Given the description of an element on the screen output the (x, y) to click on. 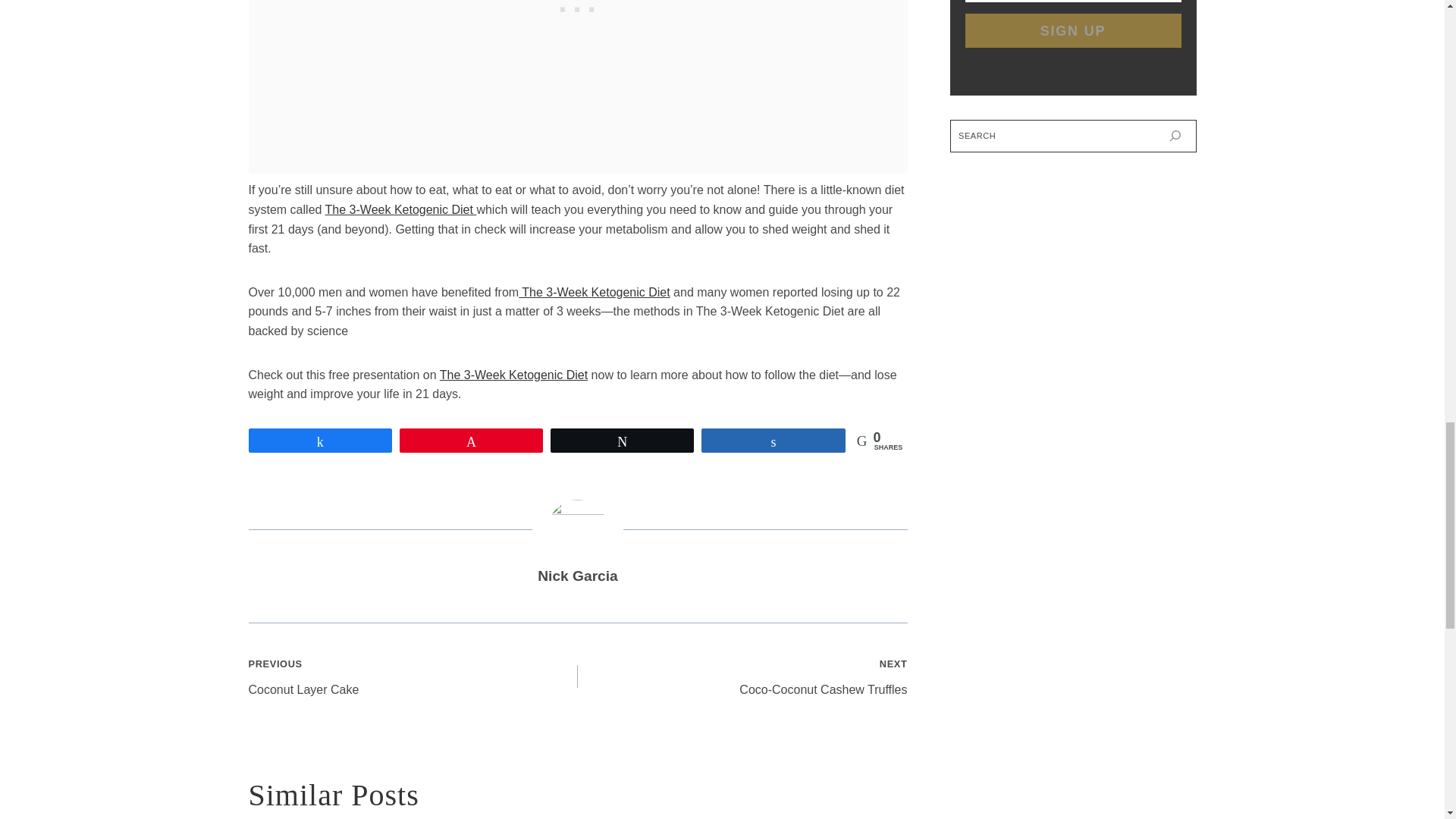
Posts by Nick Garcia (577, 575)
Sign up (1071, 30)
